Given the description of an element on the screen output the (x, y) to click on. 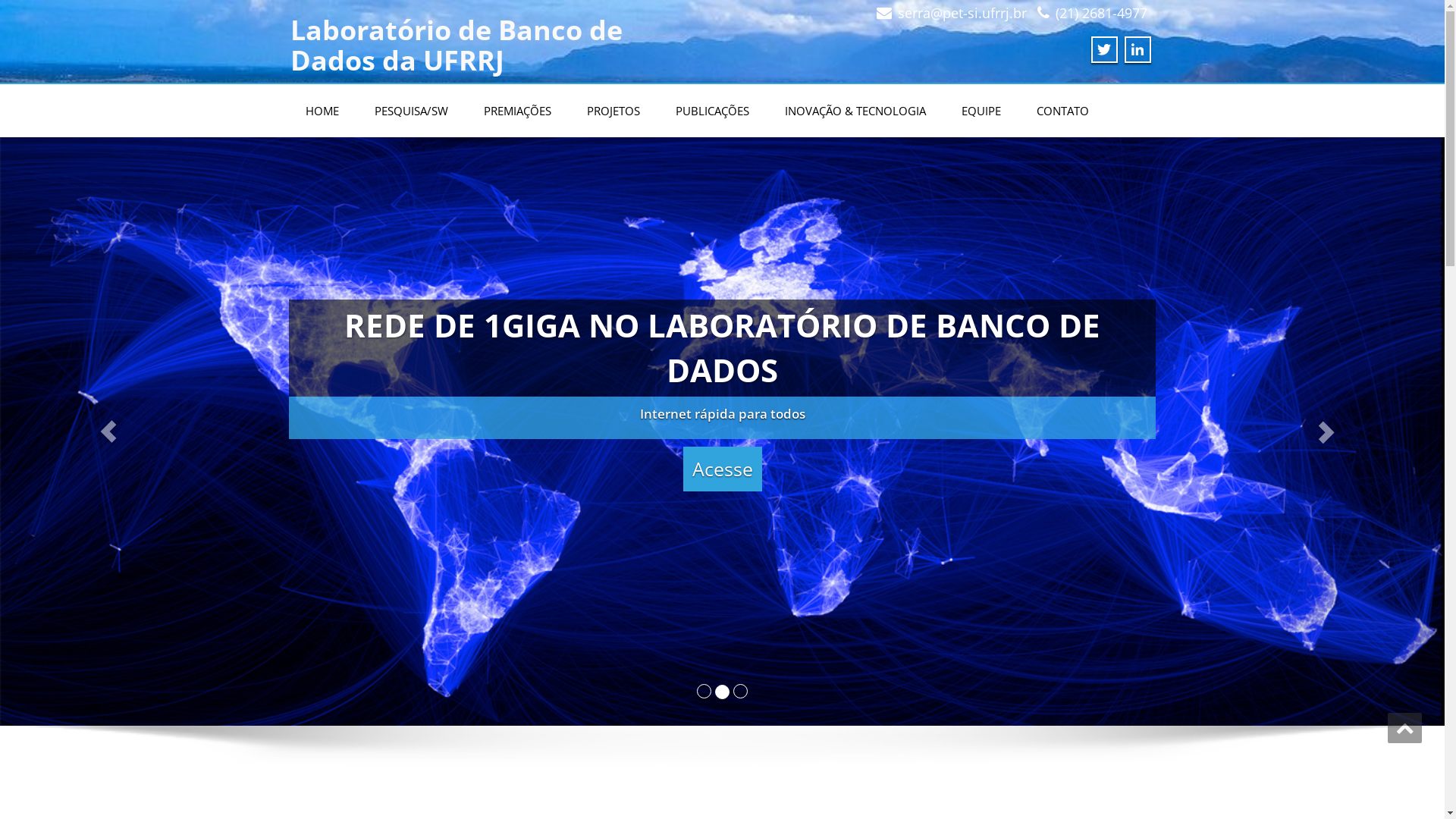
(21) 2681-4977 Element type: text (1101, 12)
Acesse Element type: text (1240, 640)
PESQUISA/SW Element type: text (411, 110)
Go Top Element type: hover (1404, 727)
HOME Element type: text (321, 110)
serra@pet-si.ufrrj.br Element type: text (961, 12)
PROJETOS Element type: text (613, 110)
EQUIPE Element type: text (981, 110)
CONTATO Element type: text (1061, 110)
